Given the description of an element on the screen output the (x, y) to click on. 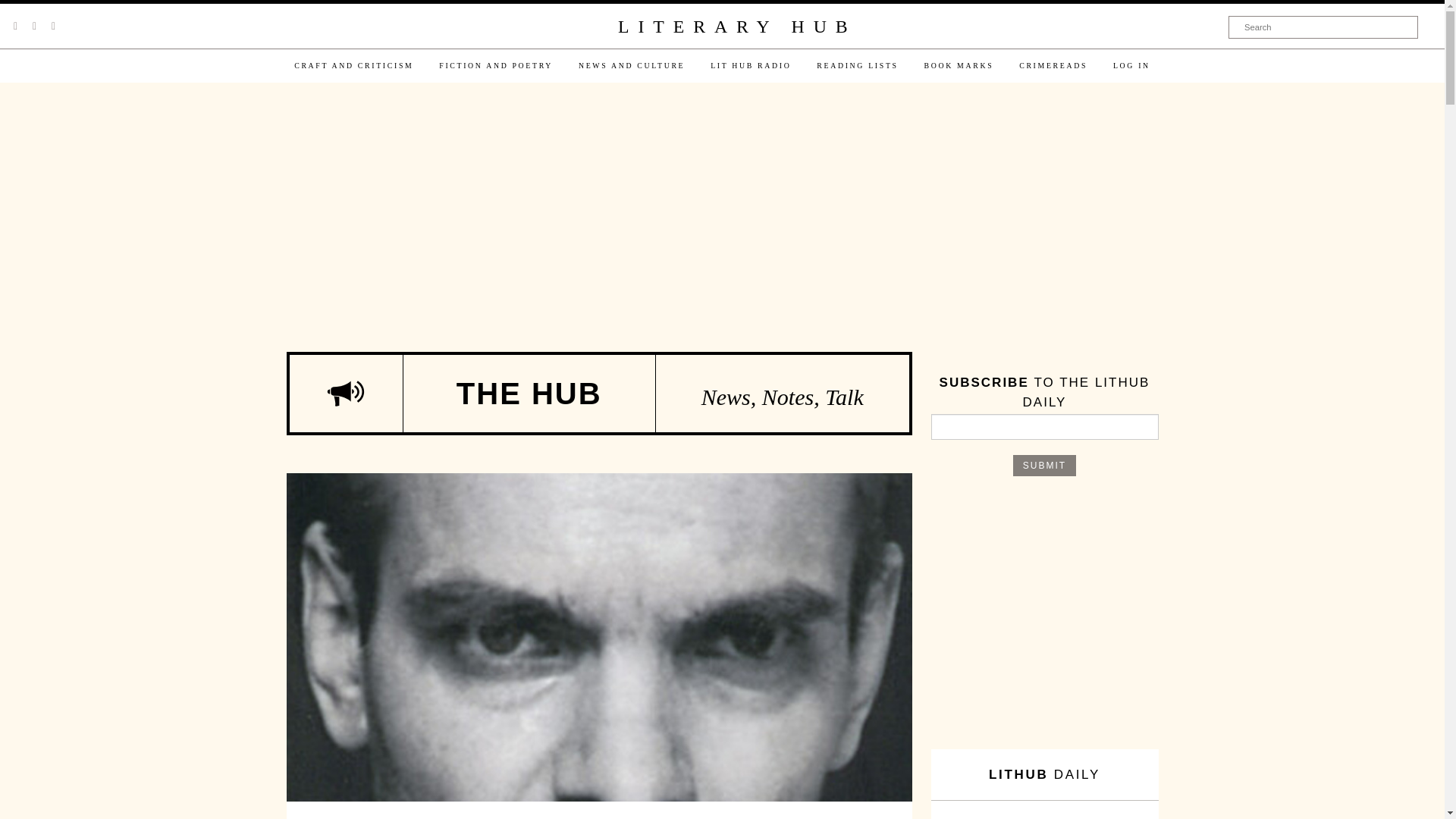
Search (1323, 26)
CRAFT AND CRITICISM (353, 65)
FICTION AND POETRY (496, 65)
LITERARY HUB (736, 26)
7 stone-faced writers accompanied by perfect cuties. (599, 797)
NEWS AND CULTURE (631, 65)
